Given the description of an element on the screen output the (x, y) to click on. 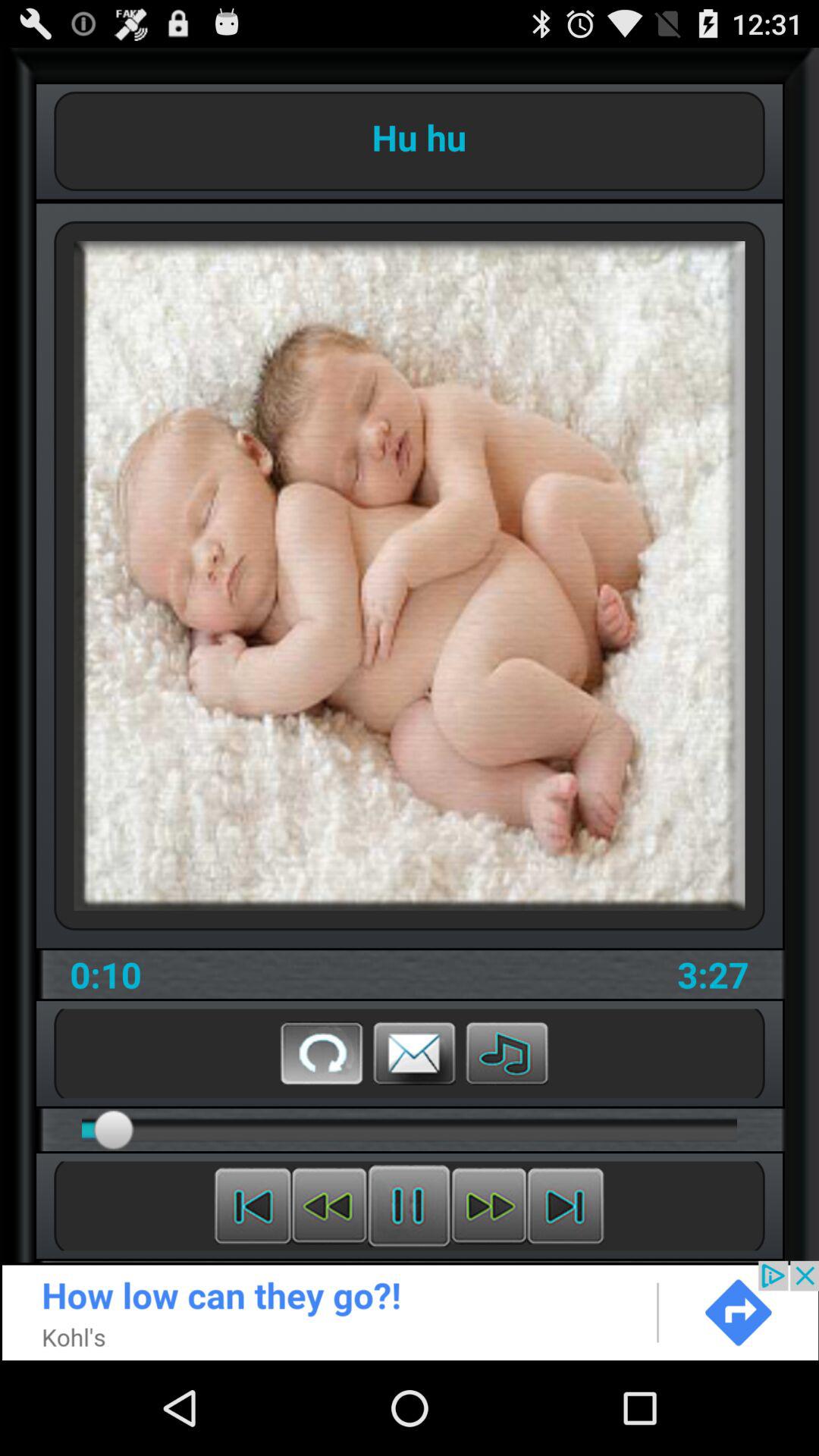
go forward (565, 1205)
